Given the description of an element on the screen output the (x, y) to click on. 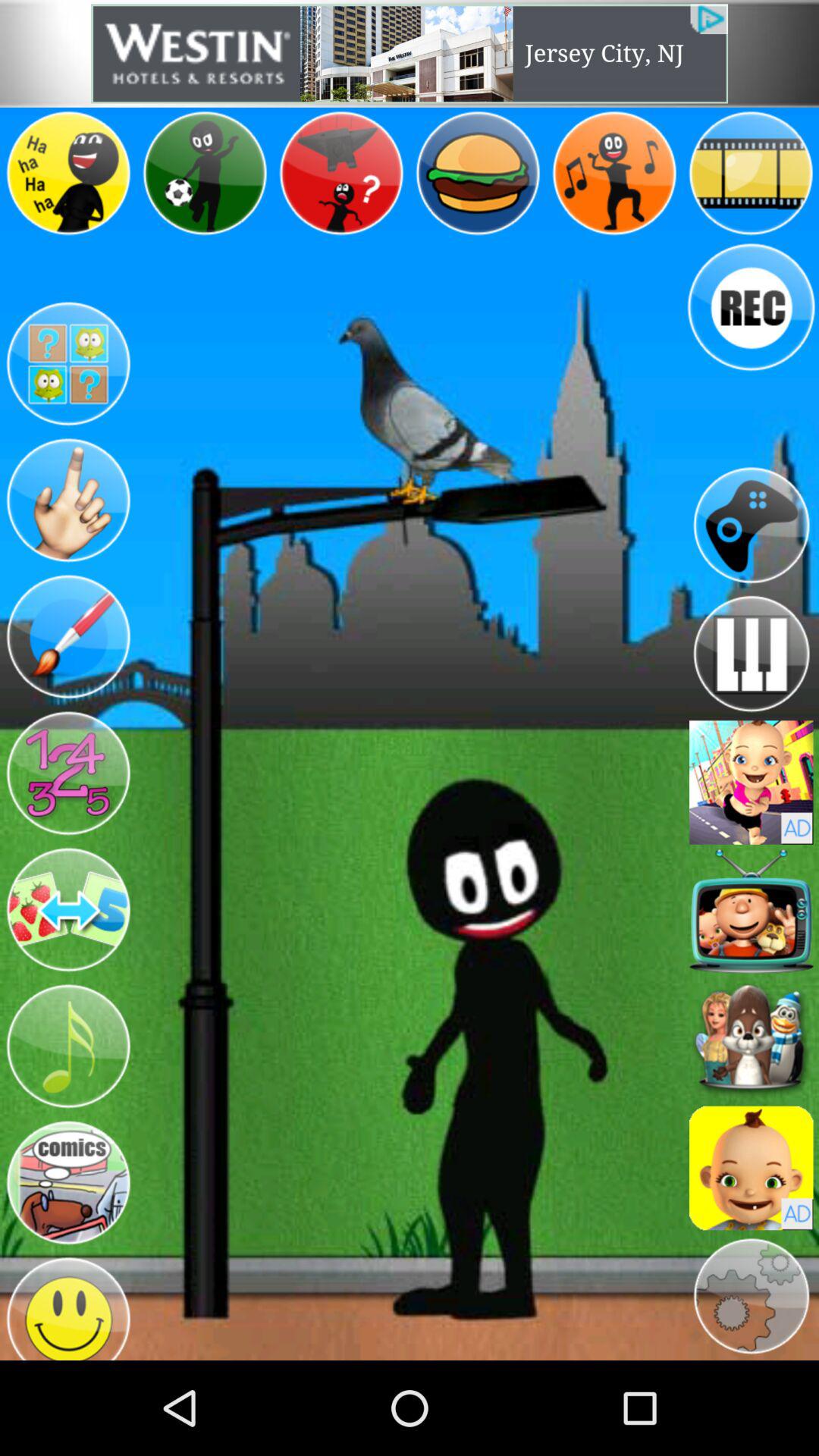
select numbers (68, 773)
